Given the description of an element on the screen output the (x, y) to click on. 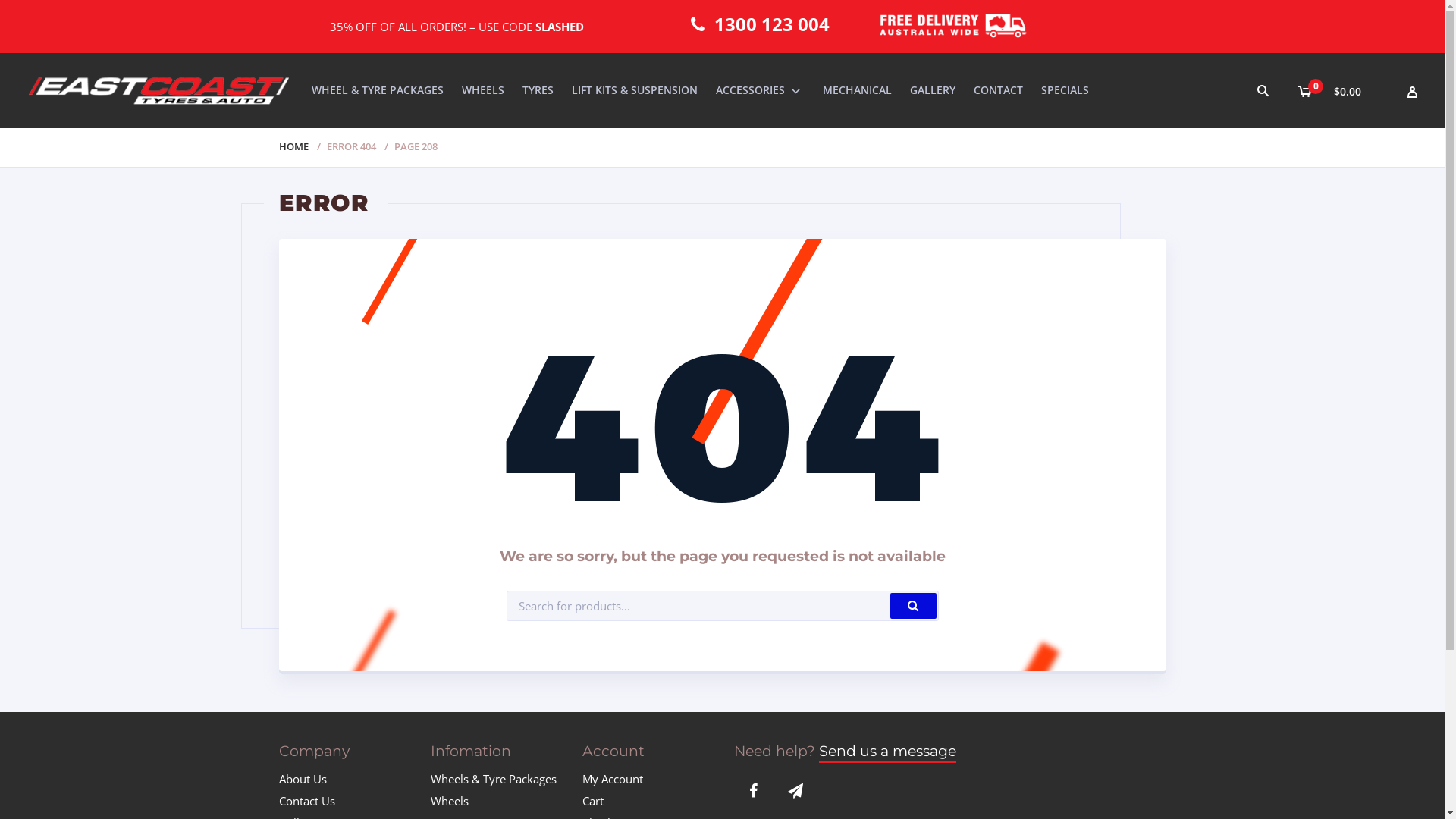
HOME Element type: text (293, 146)
GALLERY Element type: text (932, 89)
CONTACT Element type: text (997, 89)
Wheels Element type: text (449, 801)
Send us a message Element type: text (887, 751)
WHEEL & TYRE PACKAGES Element type: text (377, 89)
Cart Element type: text (592, 801)
WHEELS Element type: text (482, 89)
About Us Element type: text (302, 779)
My Account Element type: text (612, 779)
1300 123 004 Element type: text (759, 24)
ACCESSORIES Element type: text (758, 89)
Contact Us Element type: text (307, 801)
SPECIALS Element type: text (1064, 89)
 MECHANICAL Element type: text (855, 89)
TYRES Element type: text (537, 89)
Wheels & Tyre Packages Element type: text (493, 779)
LIFT KITS & SUSPENSION Element type: text (634, 89)
